Given the description of an element on the screen output the (x, y) to click on. 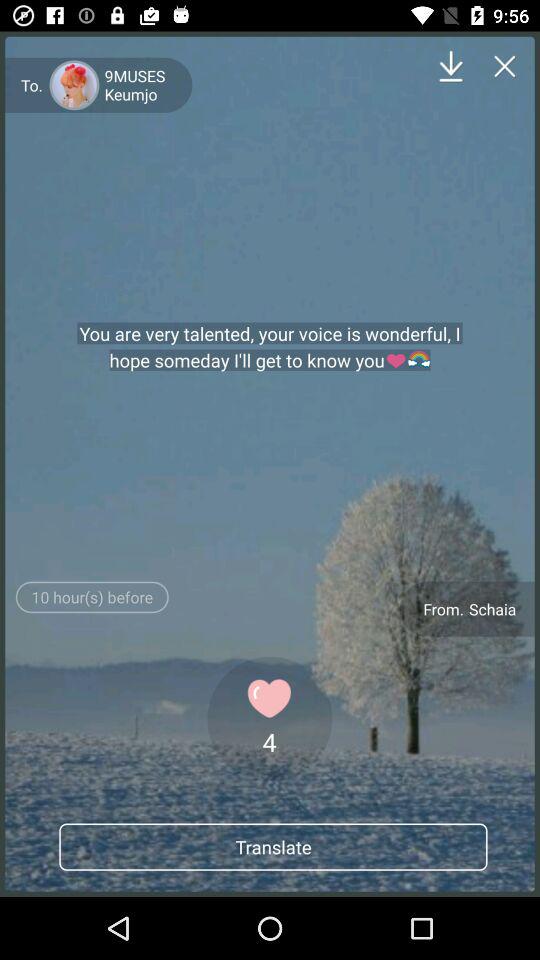
go back (504, 66)
